Given the description of an element on the screen output the (x, y) to click on. 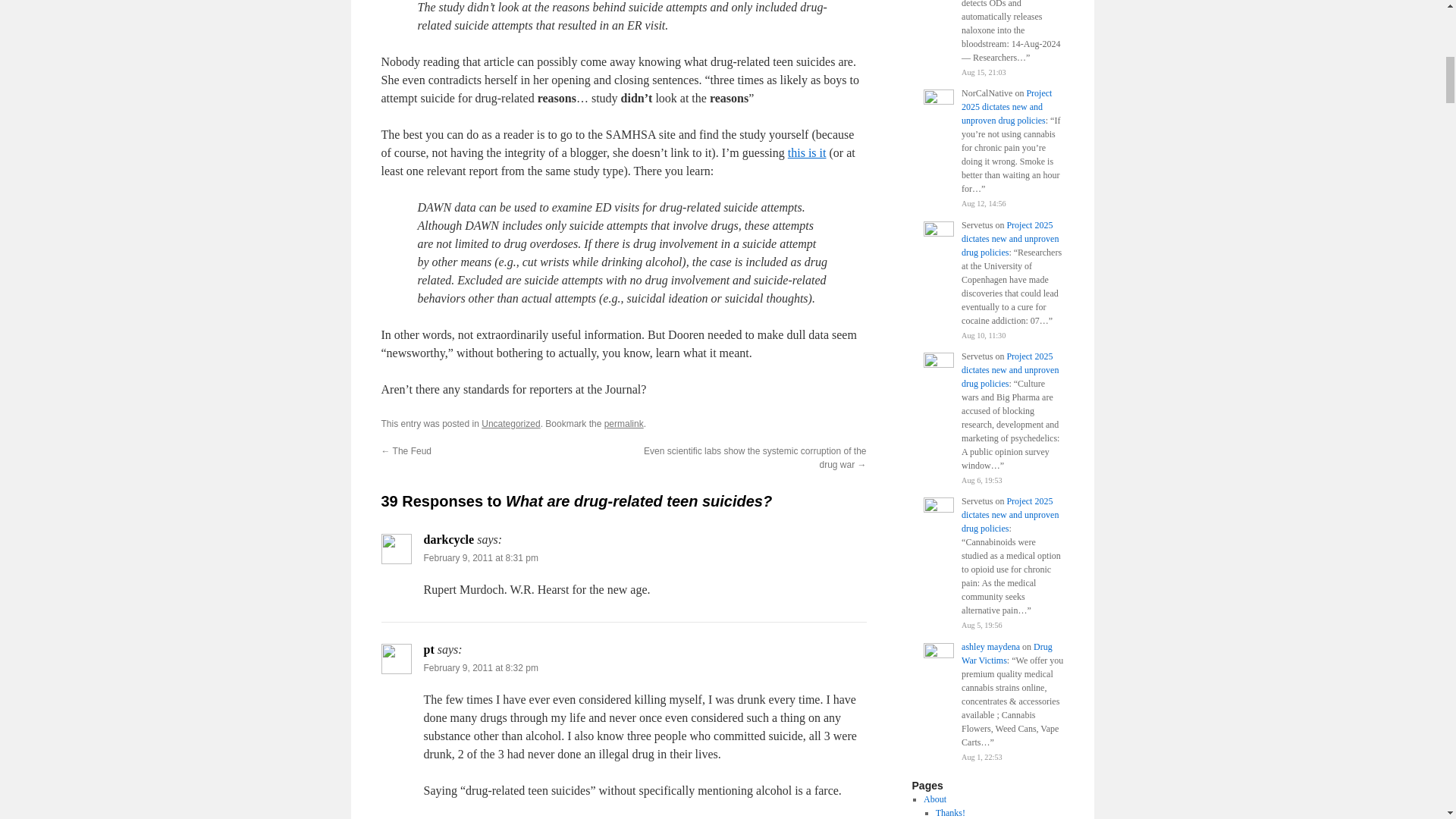
Permalink to What are drug-related teen suicides? (623, 423)
Uncategorized (510, 423)
this is it (807, 152)
permalink (623, 423)
